Given the description of an element on the screen output the (x, y) to click on. 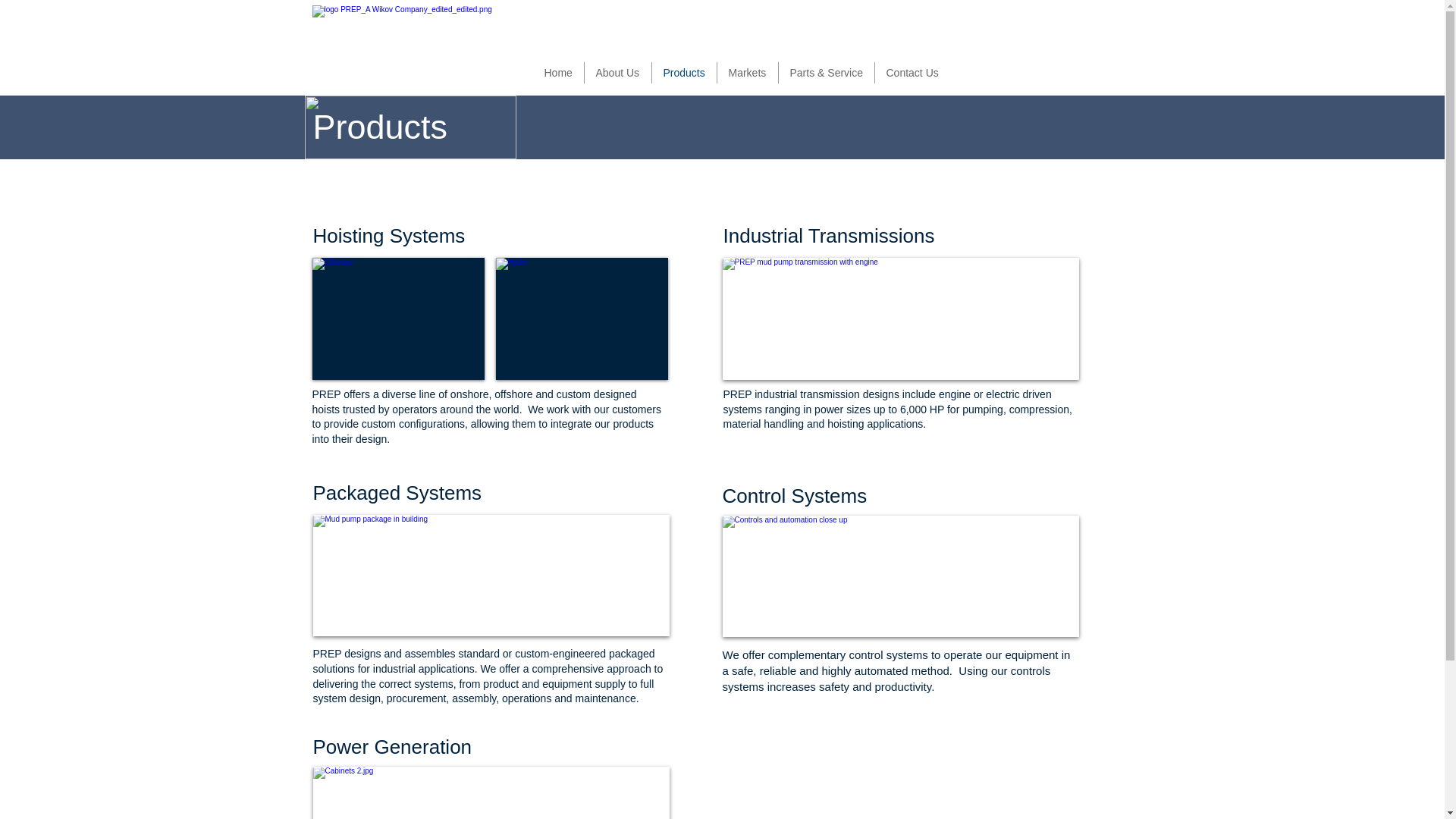
Products (683, 72)
Home (557, 72)
PREP - A Wikov Company (405, 47)
Mud pump package in building (490, 575)
Contact Us (911, 72)
Drilling Rig Controls  (490, 792)
Drilling Rig Controls  (900, 576)
Markets (746, 72)
Mud pump transmission and engine (900, 318)
About Us (616, 72)
